Given the description of an element on the screen output the (x, y) to click on. 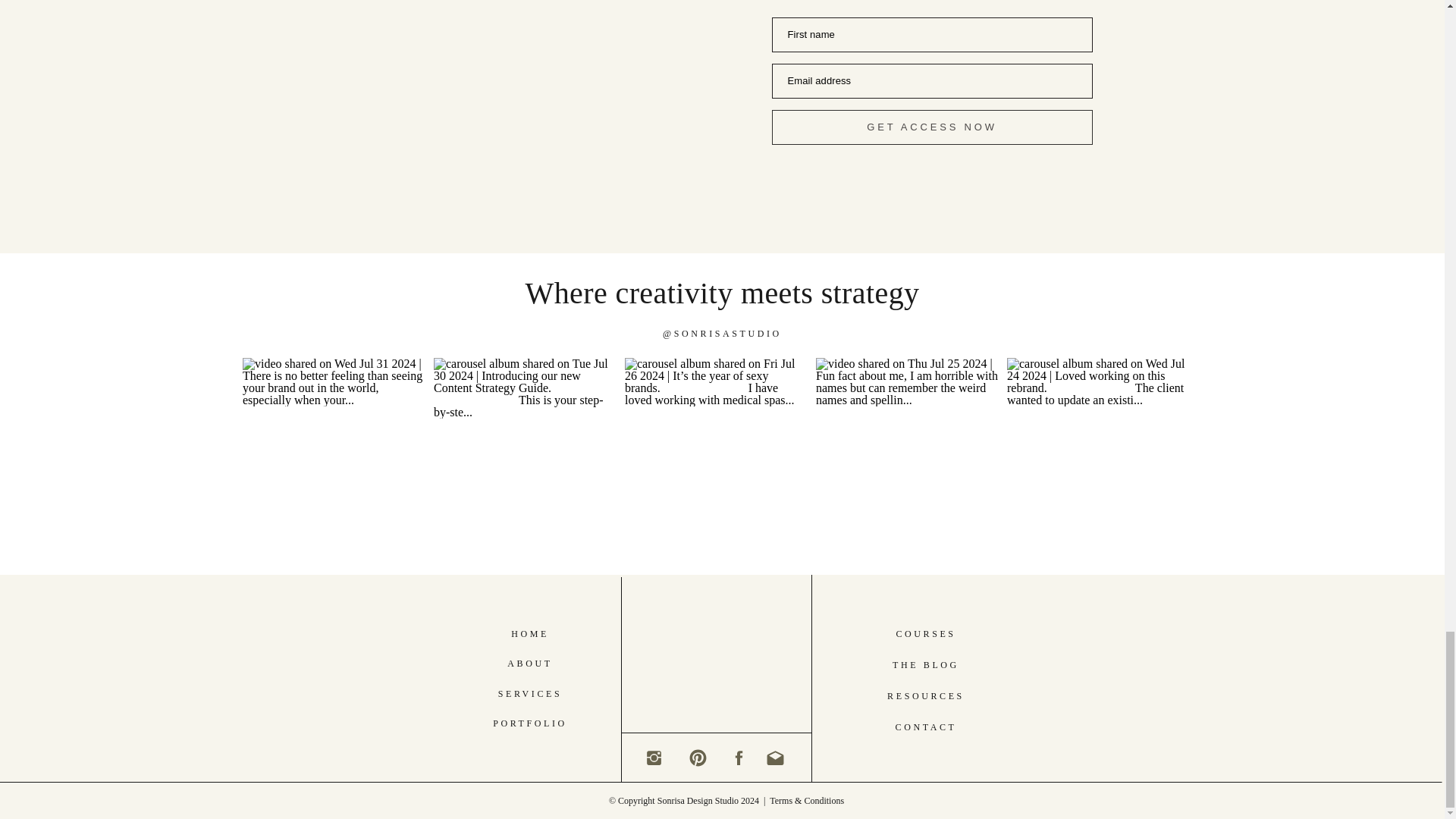
GET ACCESS NOW (932, 126)
